Given the description of an element on the screen output the (x, y) to click on. 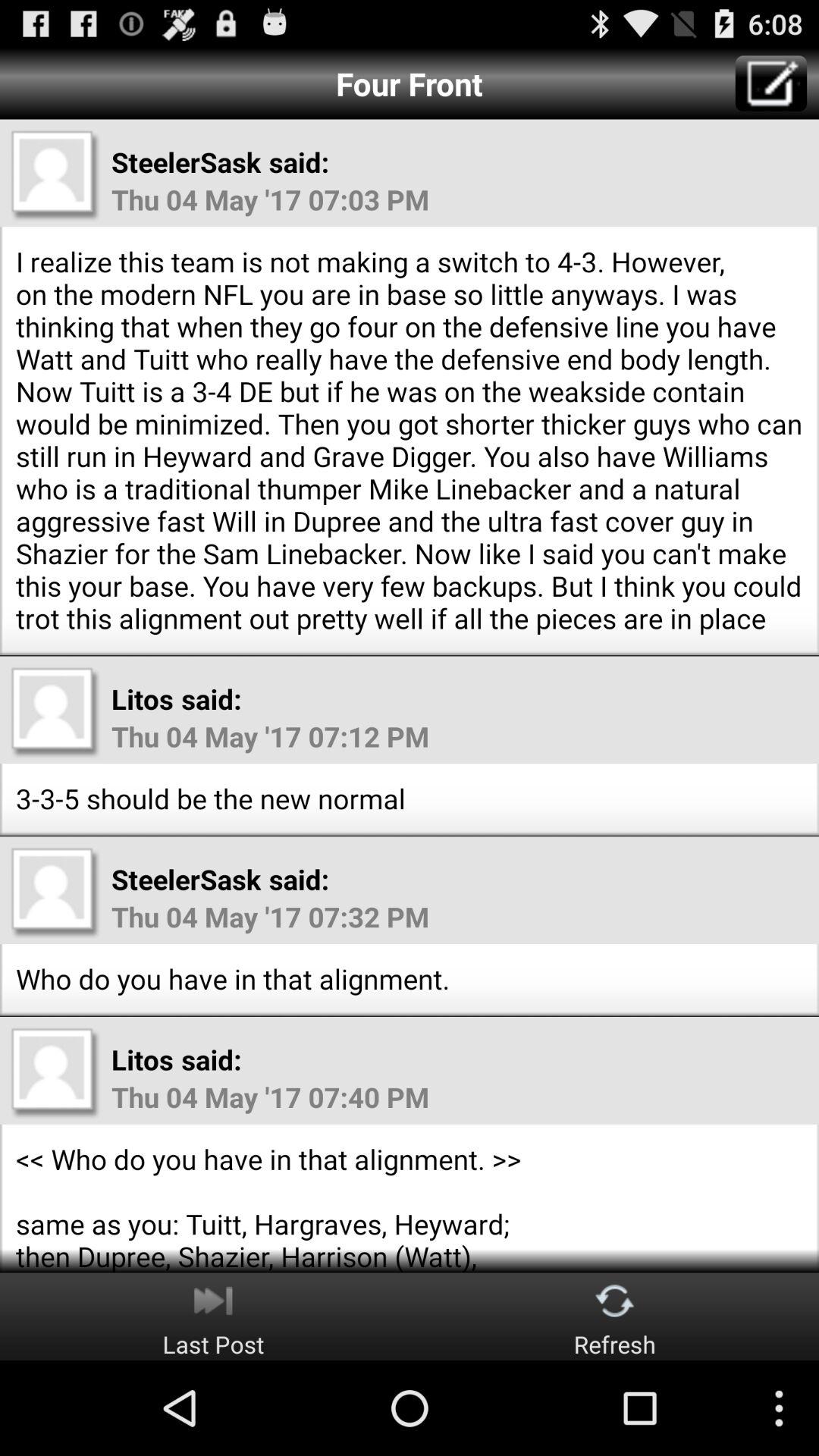
user profile image (55, 892)
